Given the description of an element on the screen output the (x, y) to click on. 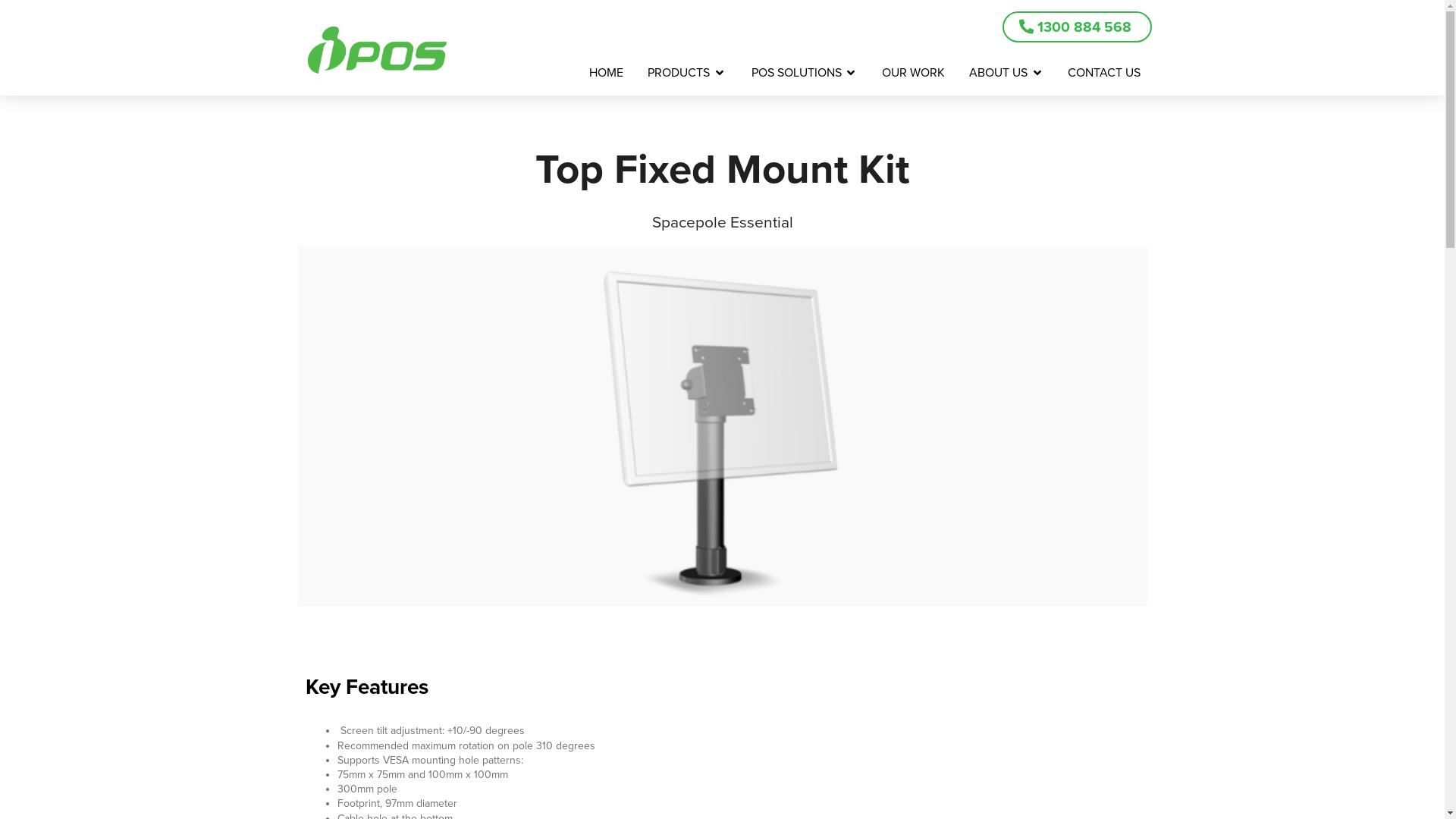
1300 884 568 Element type: text (1076, 26)
POS SOLUTIONS Element type: text (796, 72)
HOME Element type: text (606, 72)
CONTACT US Element type: text (1103, 72)
OUR WORK Element type: text (912, 72)
PRODUCTS Element type: text (679, 72)
ABOUT US Element type: text (998, 72)
